Given the description of an element on the screen output the (x, y) to click on. 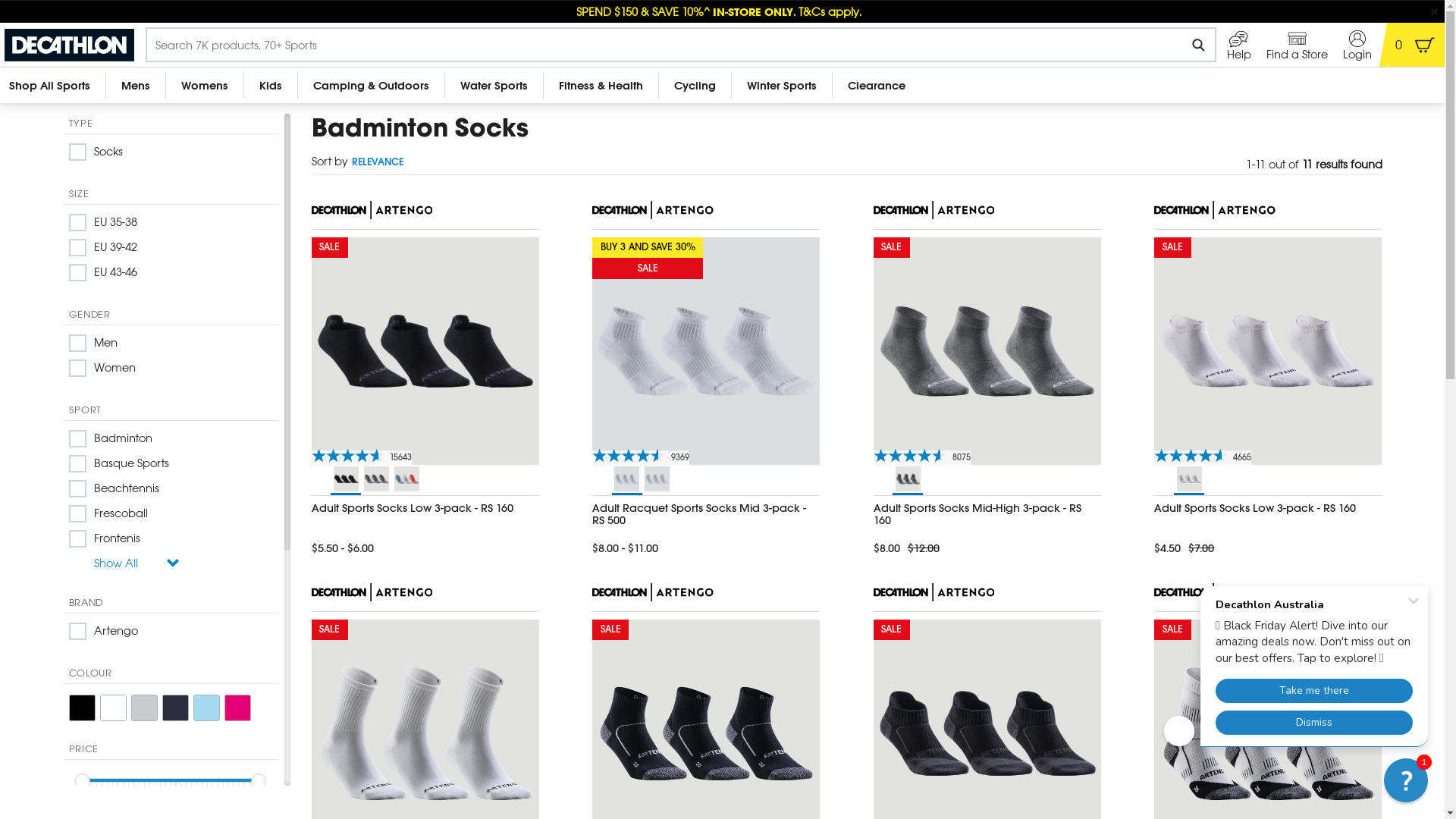
Mens Element type: text (136, 85)
0 Element type: text (1415, 44)
Login Element type: text (1357, 44)
Re:amaze Chat Element type: hover (1298, 662)
Adult Sports Socks Low 3-pack - RS 160 Element type: text (1267, 508)
$4.50 $7.00 Element type: text (1267, 546)
Decathlon Element type: hover (72, 44)
Clearance Element type: text (876, 85)
Adult Sports Socks Mid-High 3-pack - RS 160 Element type: text (987, 514)
Search Element type: text (1197, 44)
Adult Racquet Sports Socks Mid 3-pack - RS 500 Element type: text (705, 514)
Shop All Sports Element type: text (53, 85)
Winter Sports Element type: text (781, 85)
Show All Element type: text (169, 566)
$8.00 - $11.00 Element type: text (705, 546)
Kids Element type: text (271, 85)
Help Element type: text (1238, 44)
Cycling Element type: text (694, 85)
Water Sports Element type: text (494, 85)
Camping & Outdoors Element type: text (371, 85)
Adult Sports Socks Low 3-pack - RS 160 Element type: text (424, 508)
Womens Element type: text (205, 85)
$5.50 - $6.00 Element type: text (424, 546)
Find a Store Element type: text (1296, 44)
Fitness & Health Element type: text (600, 85)
$8.00 $12.00 Element type: text (987, 546)
